Given the description of an element on the screen output the (x, y) to click on. 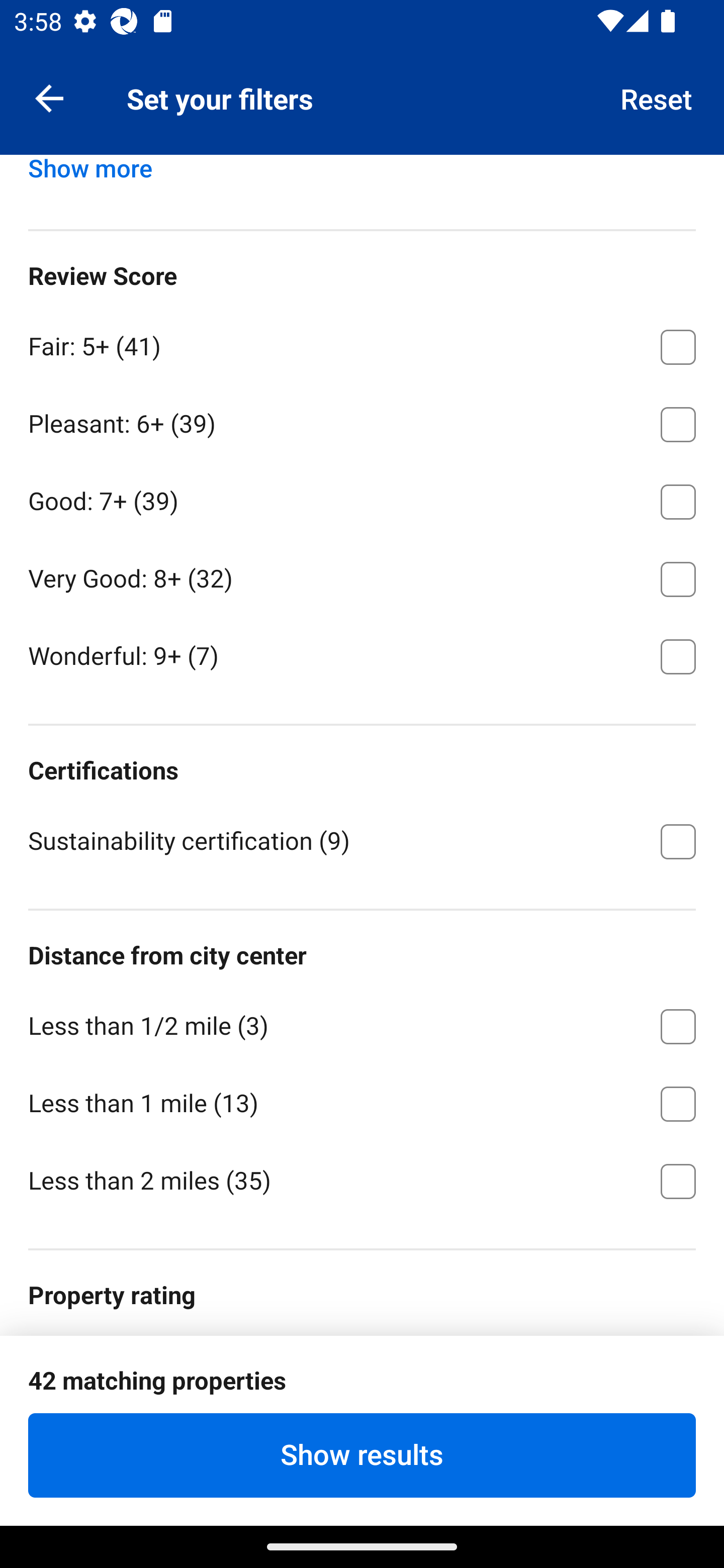
Navigate up (49, 97)
SANA Hotels ⁦(1) (361, 98)
Reset (656, 97)
Show more (97, 177)
Fair: 5+ ⁦(41) (361, 343)
Pleasant: 6+ ⁦(39) (361, 420)
Good: 7+ ⁦(39) (361, 498)
Very Good: 8+ ⁦(32) (361, 575)
Wonderful: 9+ ⁦(7) (361, 655)
Sustainability certification ⁦(9) (361, 840)
Less than 1/2 mile ⁦(3) (361, 1022)
Less than 1 mile ⁦(13) (361, 1100)
Less than 2 miles ⁦(35) (361, 1179)
Show results (361, 1454)
